Given the description of an element on the screen output the (x, y) to click on. 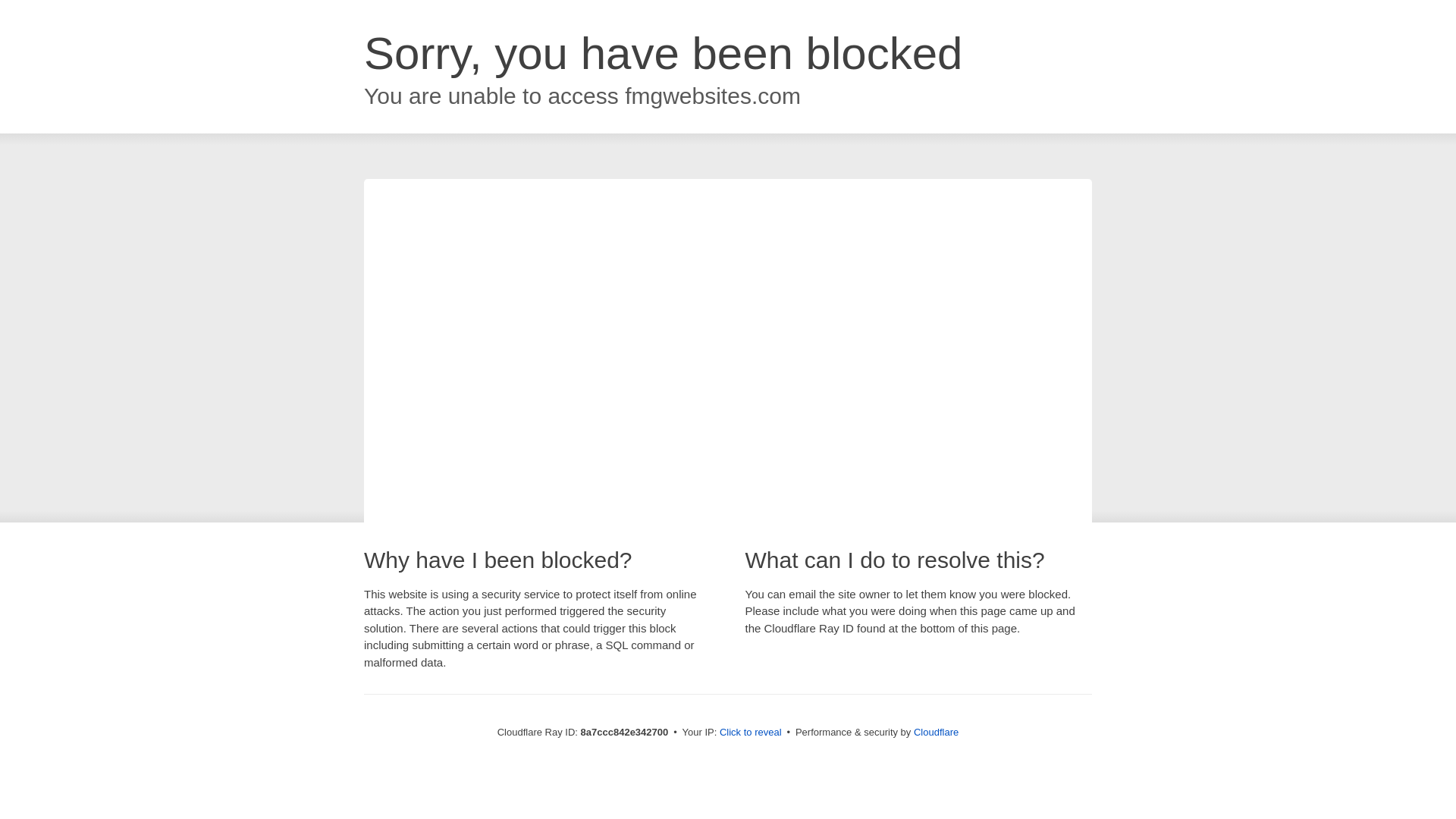
Cloudflare (936, 731)
Click to reveal (750, 732)
